Given the description of an element on the screen output the (x, y) to click on. 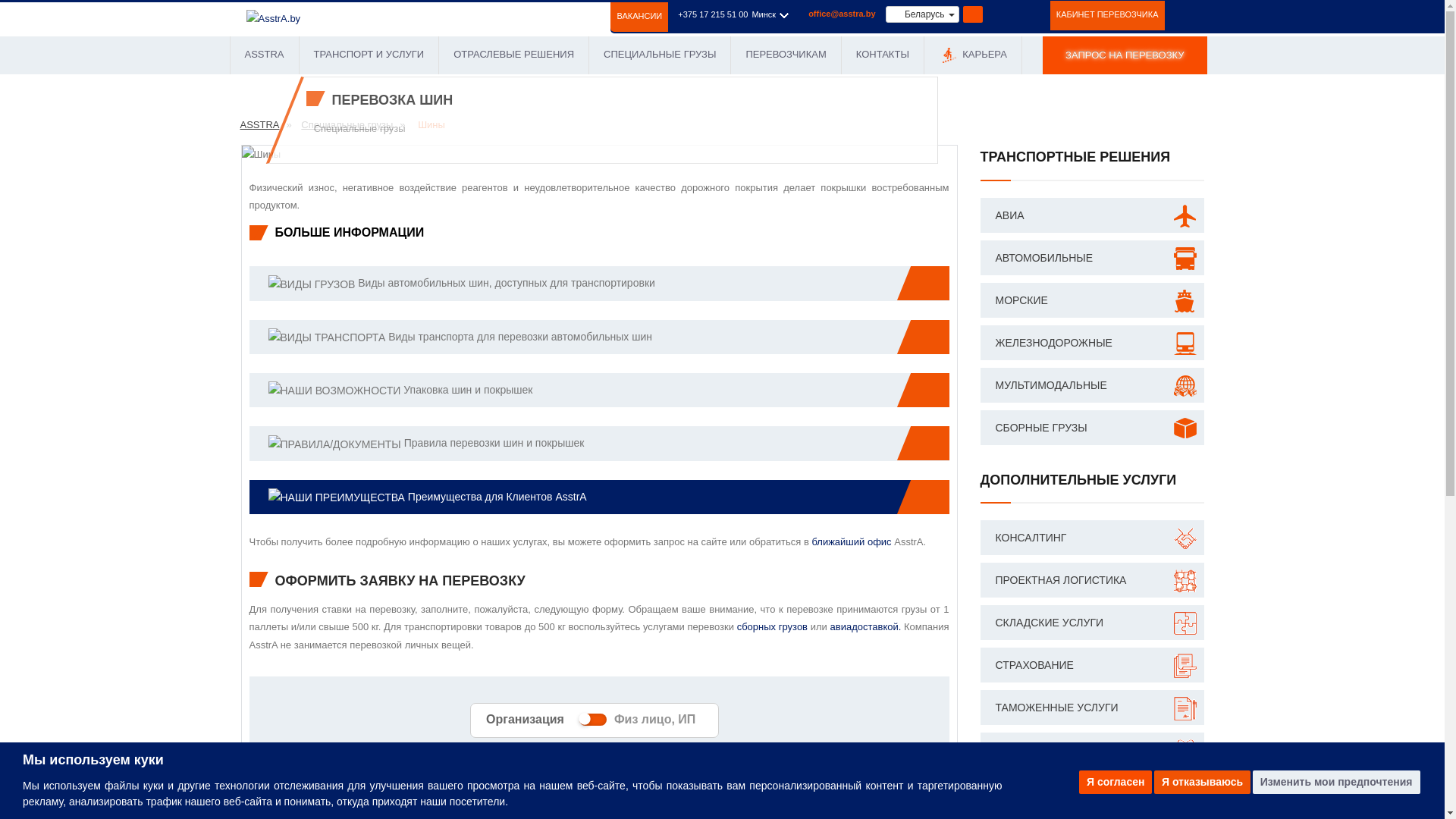
Weibo Element type: hover (1014, 13)
ASSTRA Element type: text (259, 124)
Youku Element type: hover (1031, 13)
on Element type: text (592, 719)
office@asstra.by Element type: text (841, 13)
ASSTRA Element type: text (264, 55)
+375 17 215 51 00 Element type: text (712, 13)
